Given the description of an element on the screen output the (x, y) to click on. 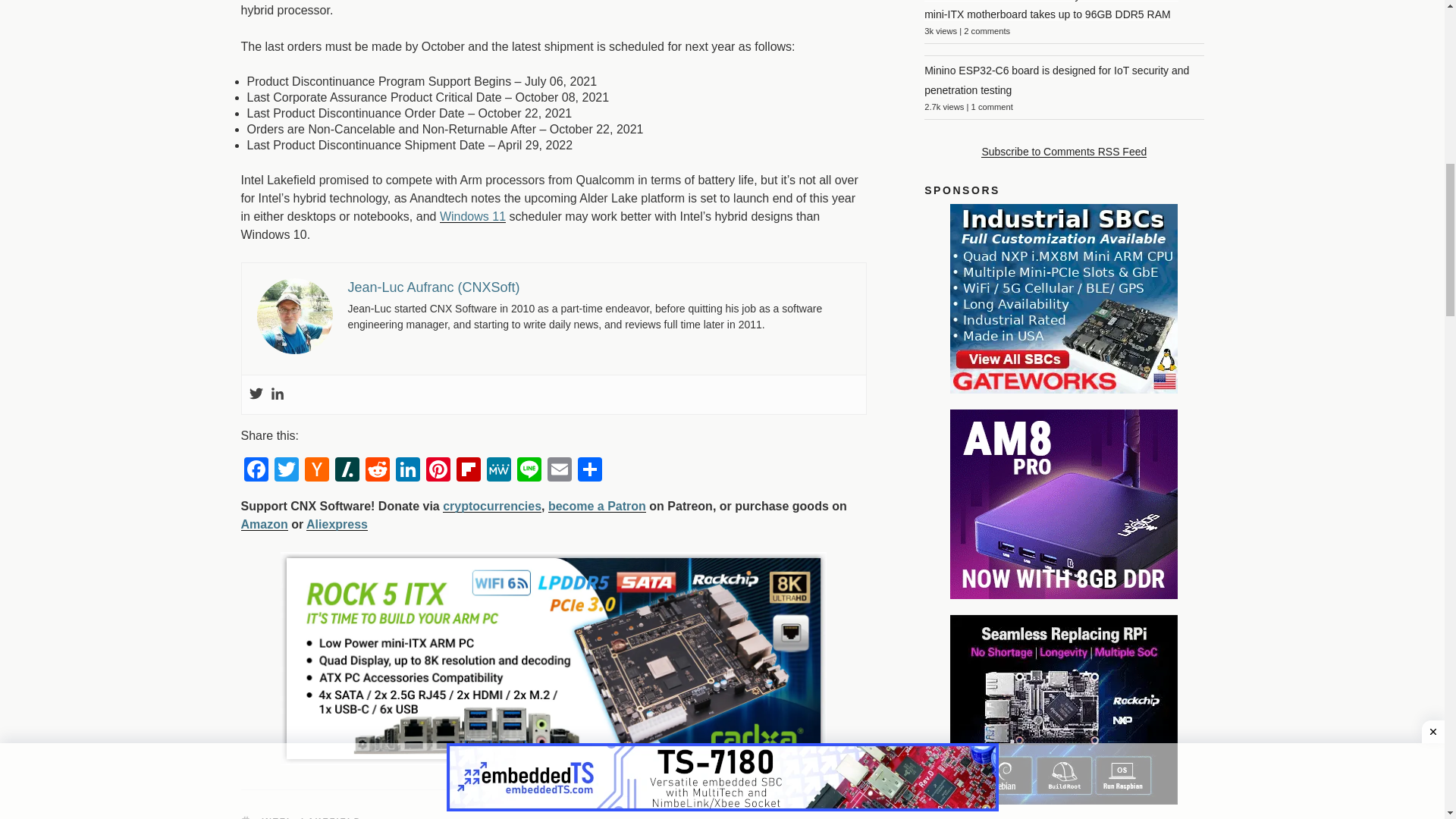
Twitter (255, 394)
Facebook (255, 471)
Twitter (285, 471)
Facebook (255, 471)
LinkedIn (408, 471)
Pinterest (437, 471)
Reddit (377, 471)
MeWe (498, 471)
Hacker News (316, 471)
Windows 11 (472, 215)
Slashdot (346, 471)
Line (528, 471)
Flipboard (467, 471)
Linkedin (276, 394)
Email (559, 471)
